Given the description of an element on the screen output the (x, y) to click on. 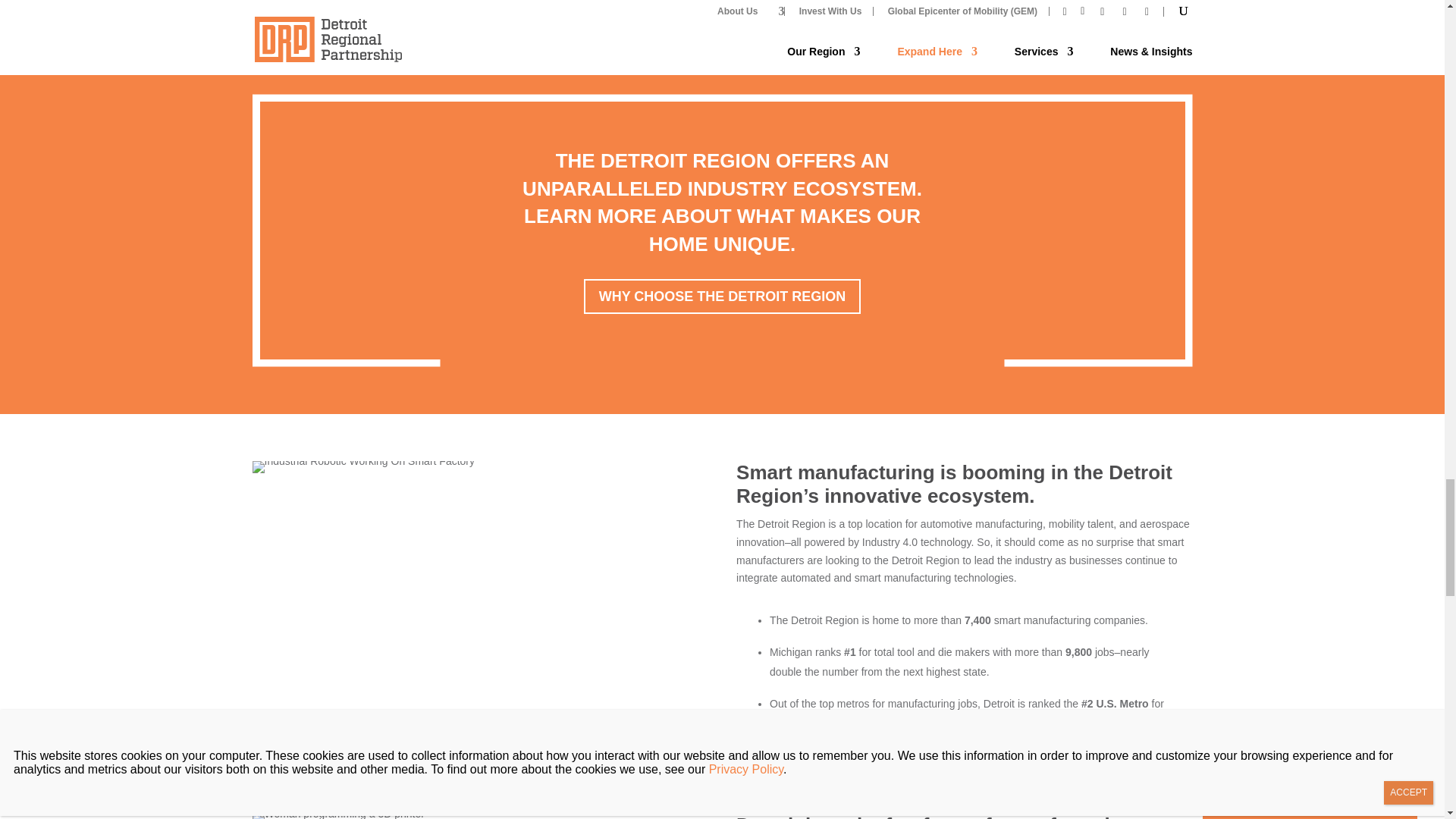
Drp Industry Resource Temp (362, 467)
Drp Industry Resource Temp (337, 816)
